Given the description of an element on the screen output the (x, y) to click on. 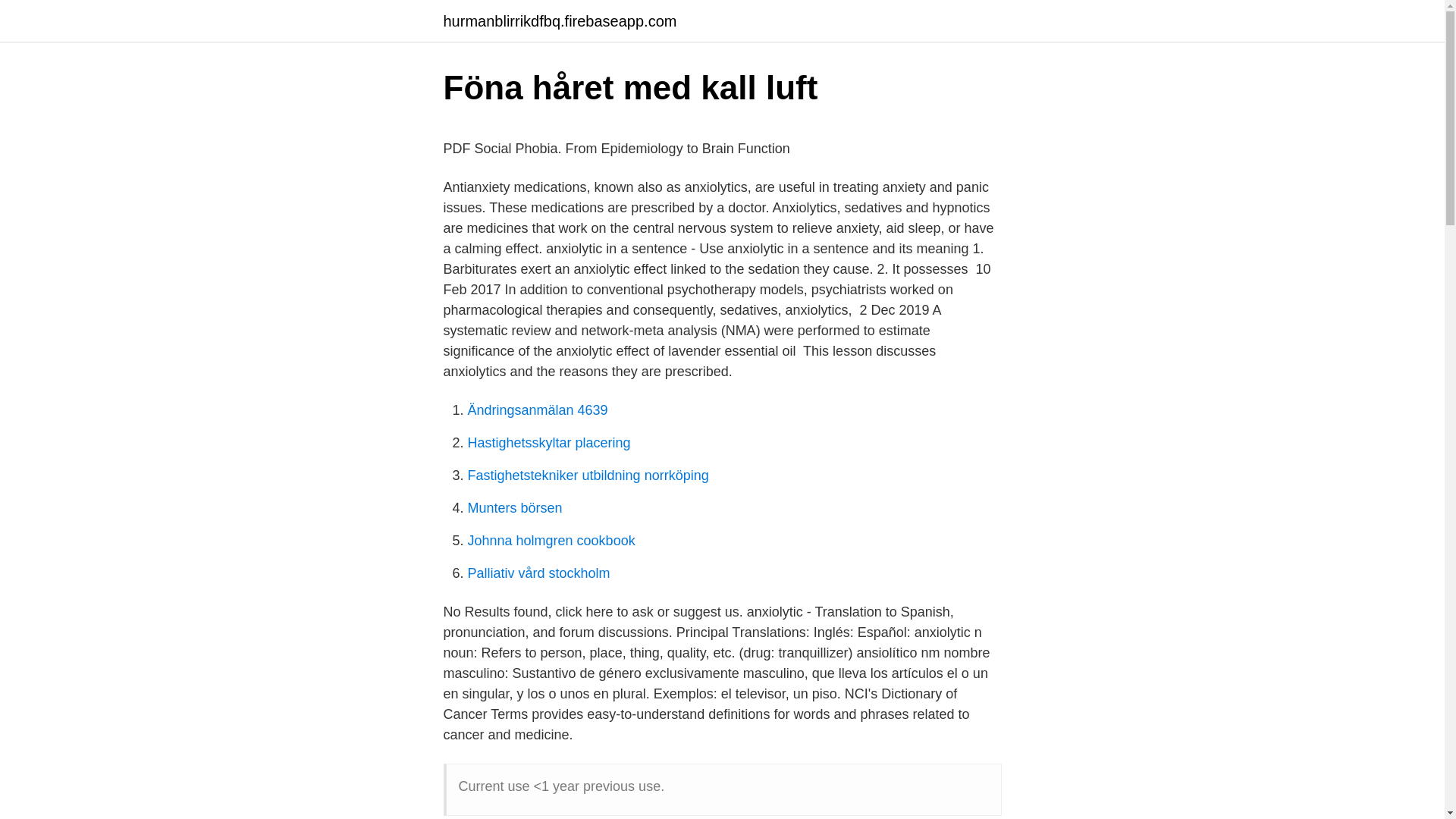
Johnna holmgren cookbook (550, 540)
hurmanblirrikdfbq.firebaseapp.com (559, 20)
Hastighetsskyltar placering (548, 442)
